Given the description of an element on the screen output the (x, y) to click on. 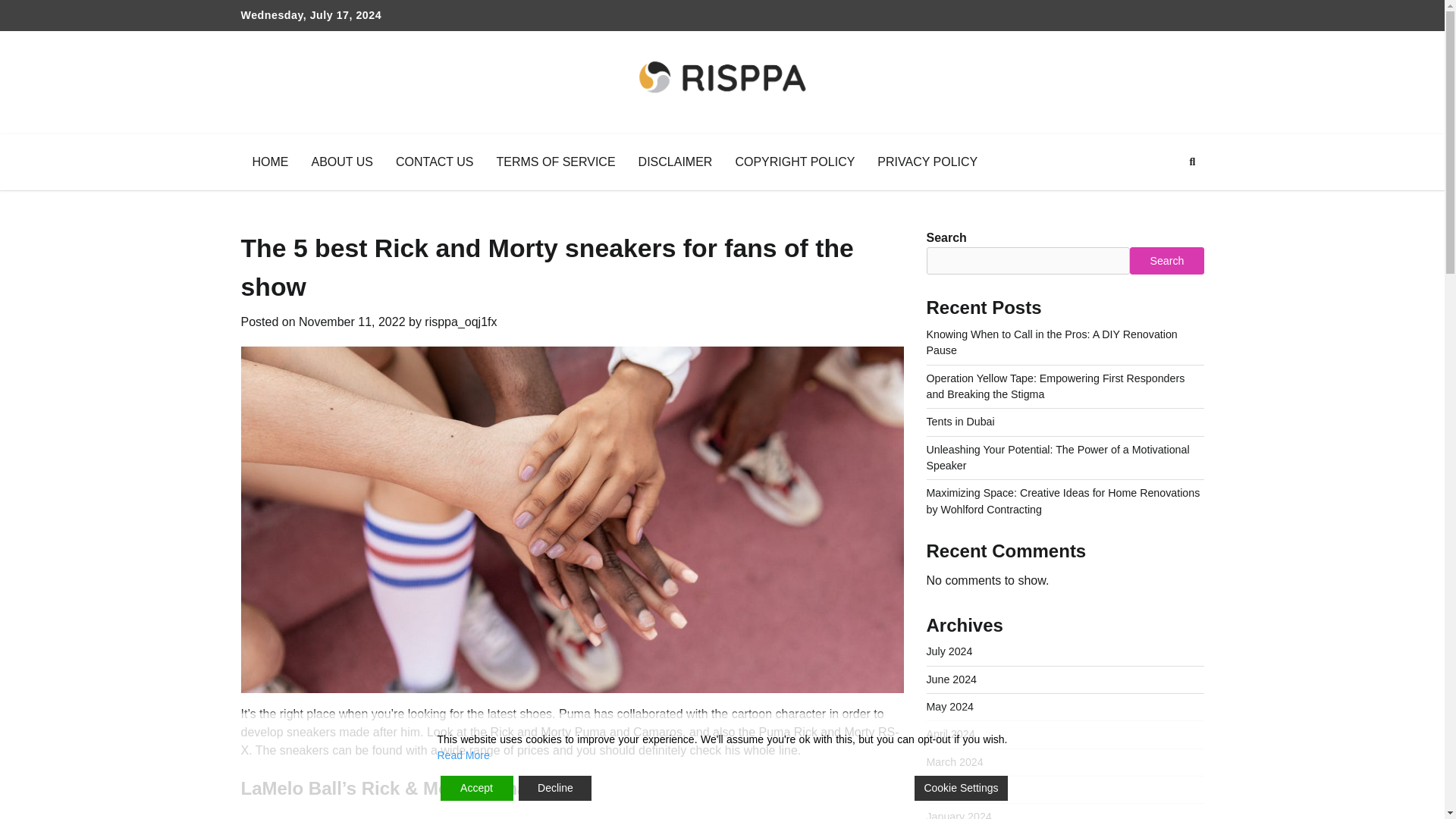
Knowing When to Call in the Pros: A DIY Renovation Pause (1051, 342)
DISCLAIMER (675, 161)
Tents in Dubai (960, 421)
Search (1164, 197)
HOME (270, 161)
April 2024 (950, 734)
February 2024 (961, 788)
COPYRIGHT POLICY (794, 161)
PRIVACY POLICY (927, 161)
Search (1166, 260)
May 2024 (950, 706)
March 2024 (955, 761)
July 2024 (949, 651)
